Given the description of an element on the screen output the (x, y) to click on. 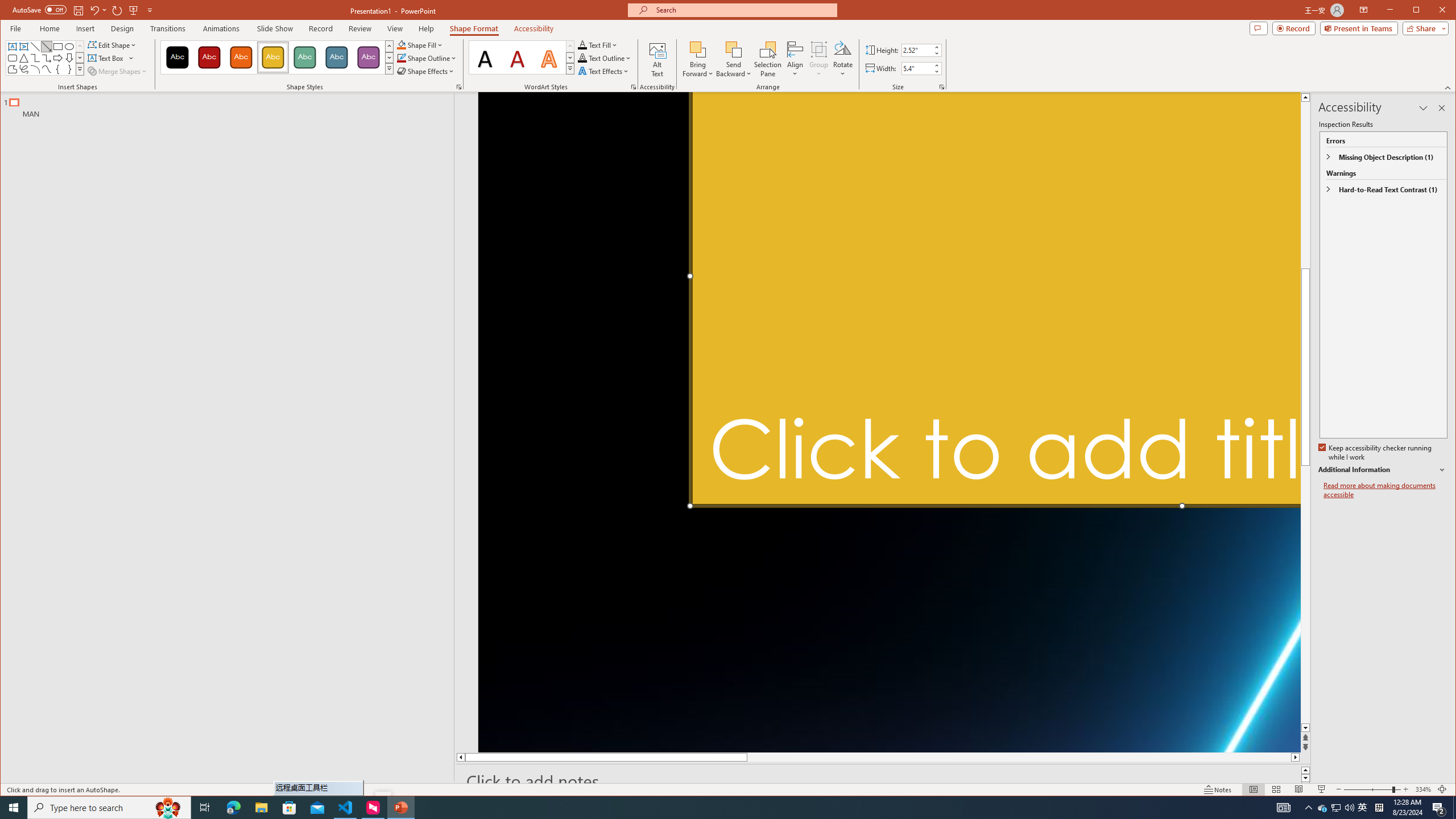
Bring Forward (697, 59)
Outline (231, 104)
Arc (34, 69)
Shape Width (916, 68)
Colored Fill - Purple, Accent 6 (368, 57)
Shape Fill Orange, Accent 2 (400, 44)
